Given the description of an element on the screen output the (x, y) to click on. 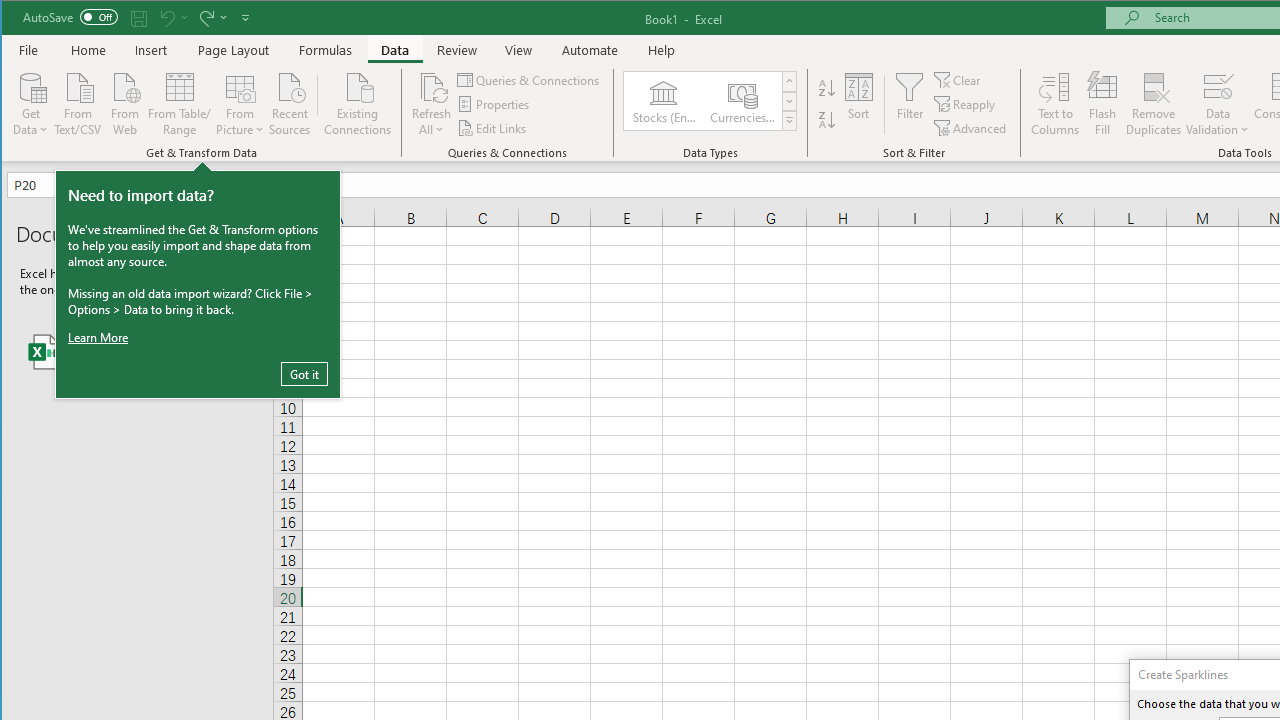
From Web (124, 101)
From Picture (240, 101)
Sort Smallest to Largest (827, 88)
AutoSave (70, 16)
Recent Sources (290, 101)
AutomationID: ConvertToLinkedEntity (711, 101)
Got it (304, 373)
Filter (909, 104)
Sort Largest to Smallest (827, 119)
System (19, 18)
Row Down (789, 101)
Home (88, 50)
Help (661, 50)
Redo (205, 17)
Text to Columns... (1055, 104)
